Given the description of an element on the screen output the (x, y) to click on. 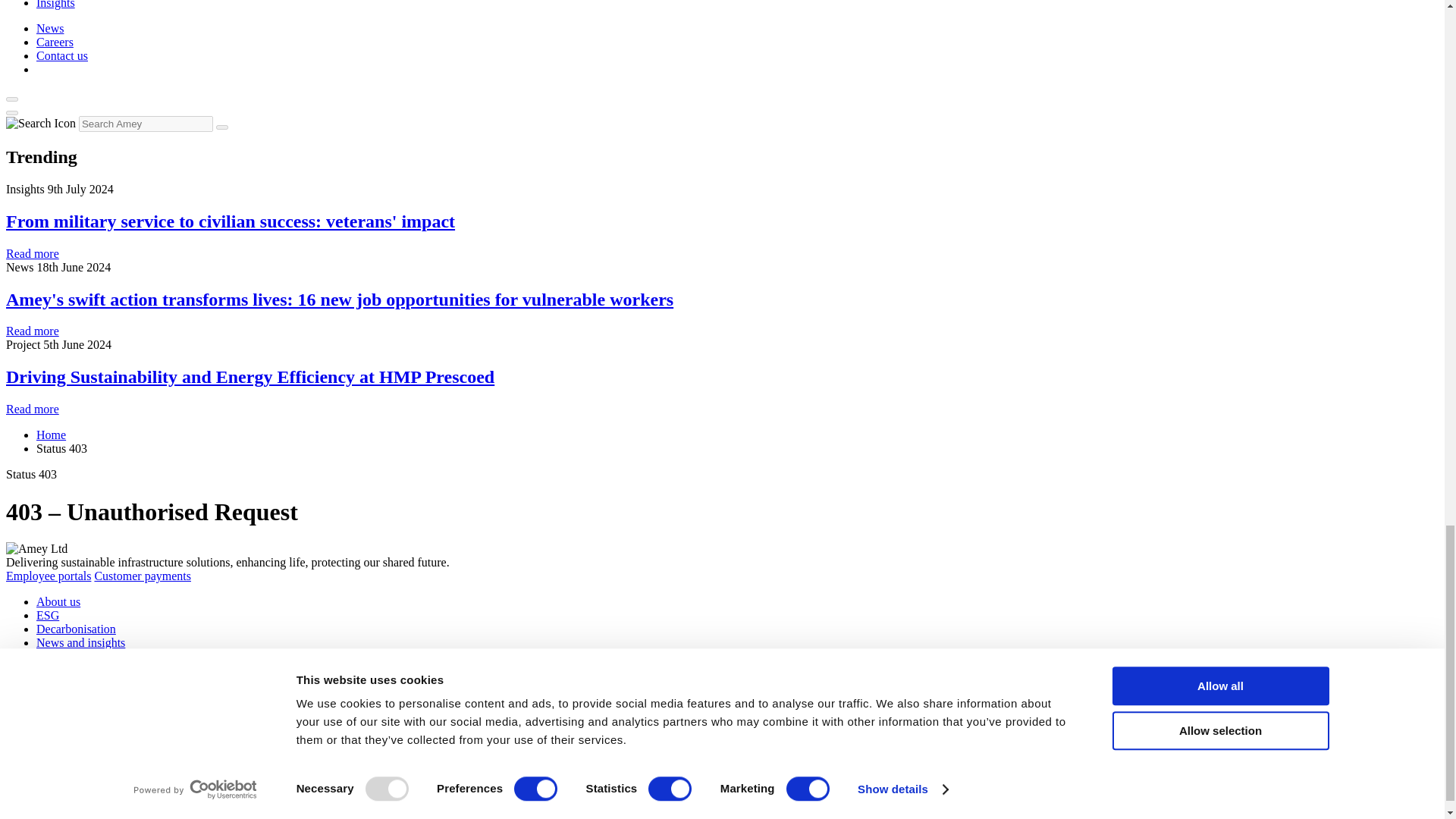
Search (221, 127)
